Given the description of an element on the screen output the (x, y) to click on. 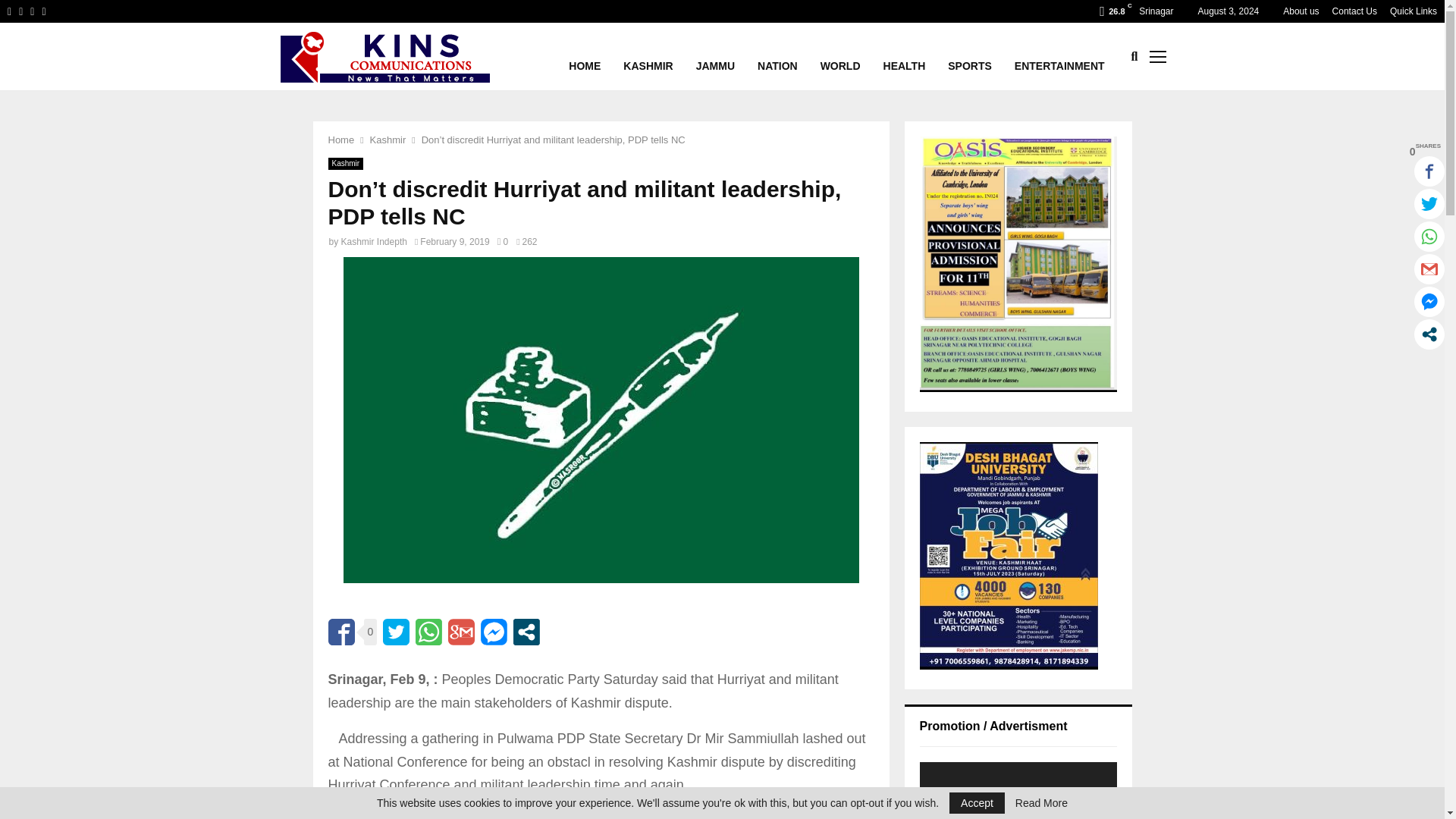
Tweet (395, 632)
About us (1300, 11)
Kashmir (387, 139)
Contact Us (1354, 11)
Open modal social networks (526, 632)
Home (340, 139)
Send by Gmail (461, 632)
ENTERTAINMENT (1059, 56)
Kashmir (344, 163)
Share on Facebook (340, 632)
